Given the description of an element on the screen output the (x, y) to click on. 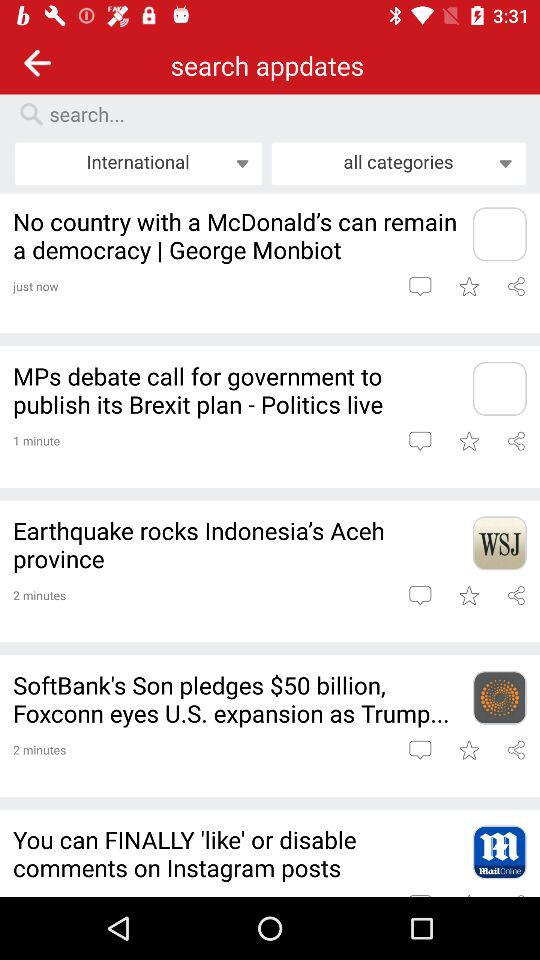
favorite the article (468, 749)
